Given the description of an element on the screen output the (x, y) to click on. 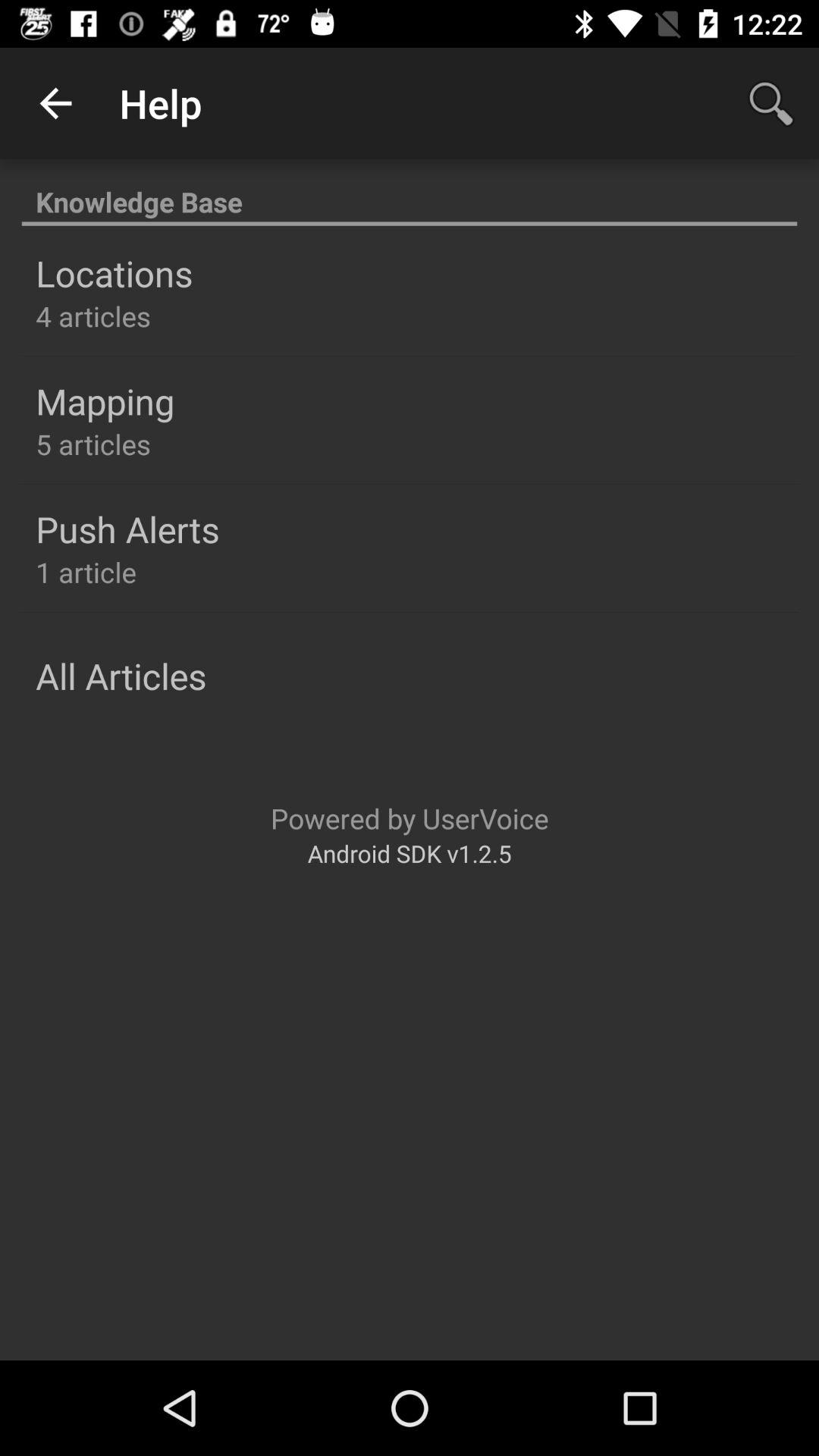
tap icon to the left of help item (55, 103)
